Given the description of an element on the screen output the (x, y) to click on. 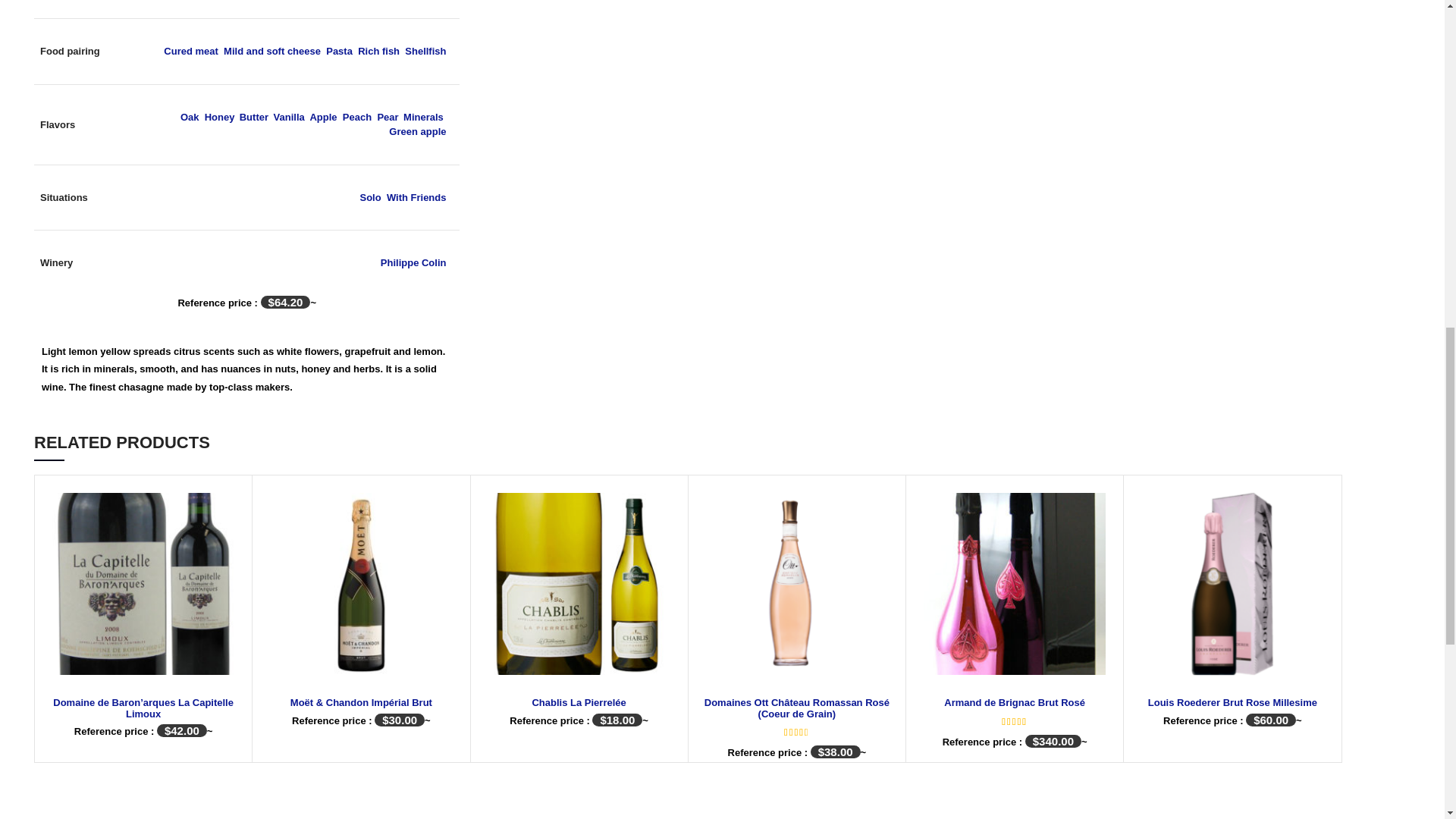
Honey (219, 116)
Green apple (416, 131)
Pear (387, 116)
With Friends (416, 197)
Rich fish (378, 50)
Vanilla (288, 116)
Peach (356, 116)
Minerals (423, 116)
Cured meat (190, 50)
Mild and soft cheese (272, 50)
Apple (322, 116)
Solo (369, 197)
Oak (189, 116)
Butter (253, 116)
Shellfish (424, 50)
